Given the description of an element on the screen output the (x, y) to click on. 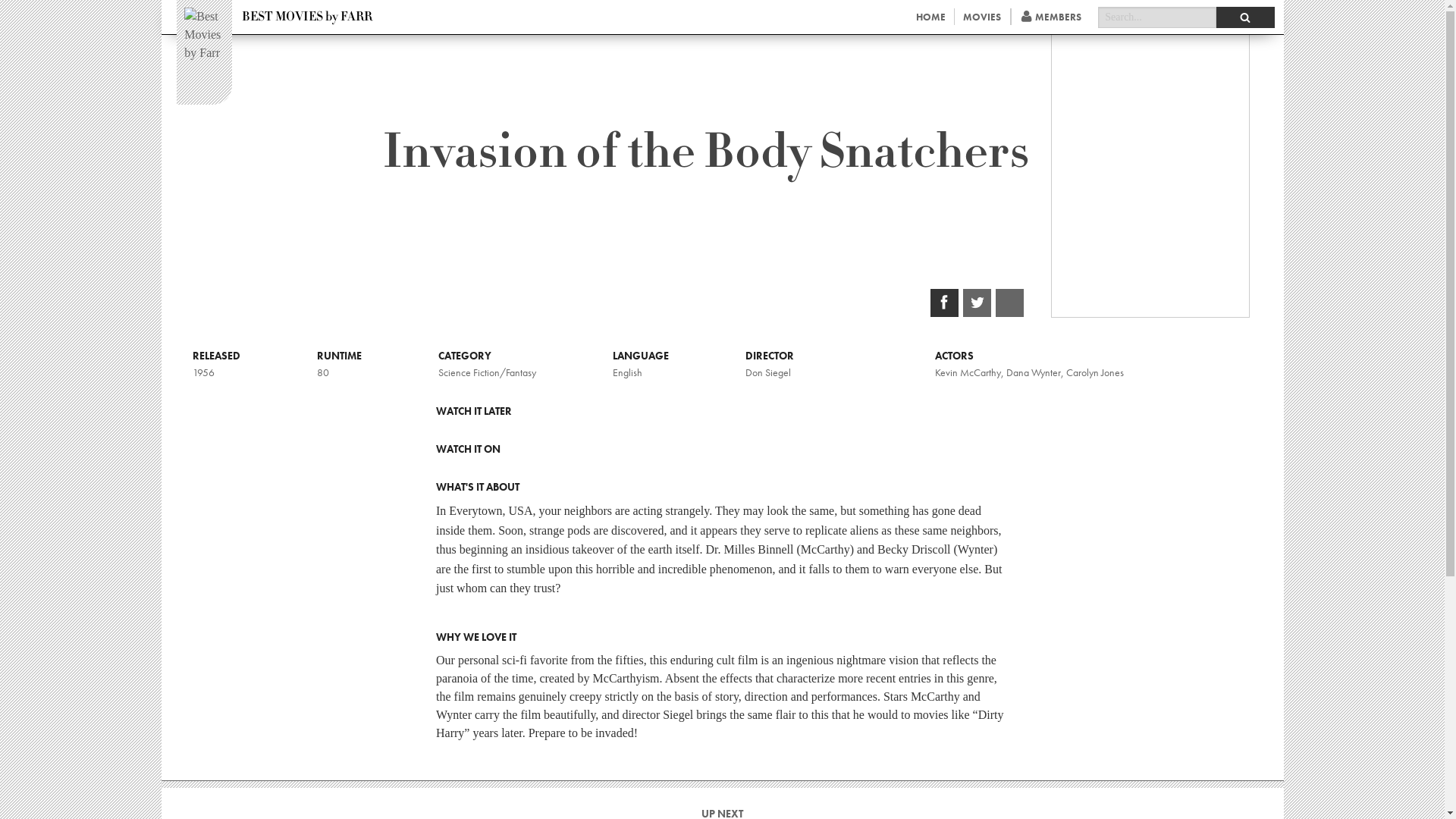
Kevin McCarthy (967, 372)
BEST MOVIES by FARR (306, 17)
MEMBERS (1050, 17)
HOME (930, 17)
Dana Wynter (1032, 372)
English (627, 372)
Carolyn Jones (1094, 372)
Don Siegel (767, 372)
MOVIES (982, 17)
